Given the description of an element on the screen output the (x, y) to click on. 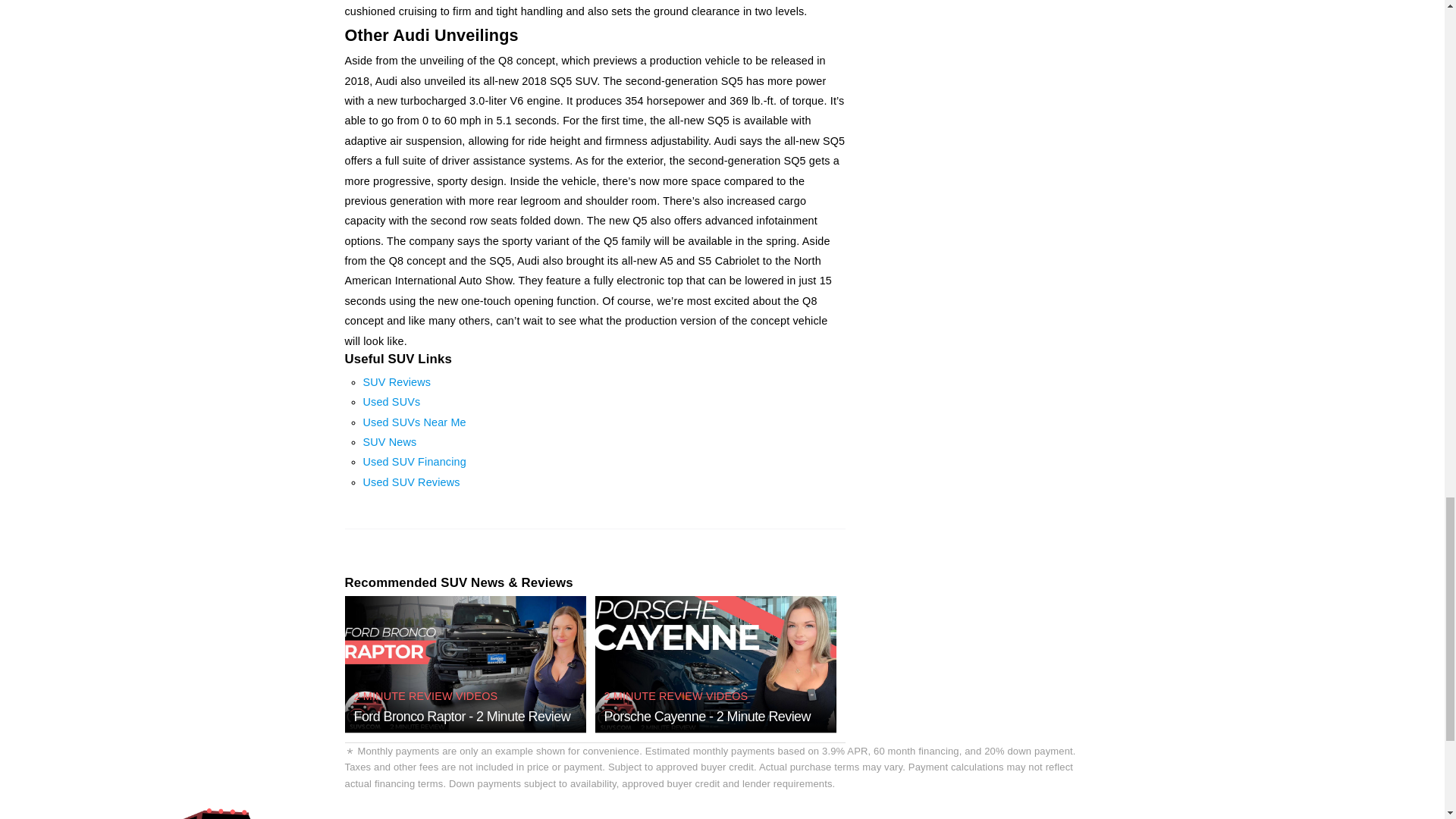
Used SUVs (391, 401)
Used SUVs Near Me (413, 422)
Ford Bronco Raptor - 2 Minute Review (461, 716)
Used SUV Financing (413, 461)
SUV News (389, 441)
Used SUV Reviews (411, 481)
Porsche Cayenne - 2 Minute Review (706, 716)
SUV Reviews (396, 381)
SUV news, reviews, and used cars for sale. (219, 813)
